Given the description of an element on the screen output the (x, y) to click on. 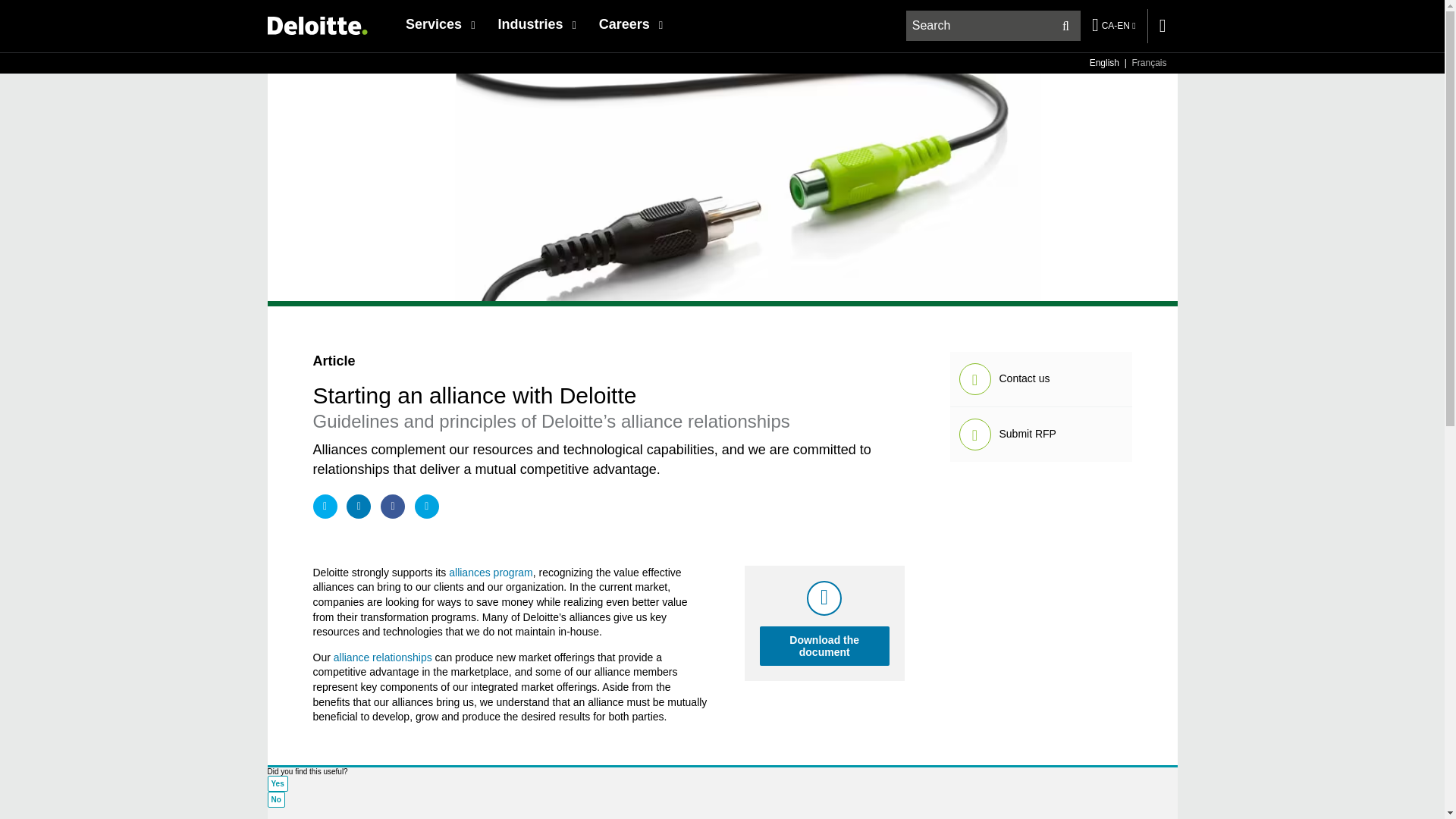
Search (1065, 25)
Share via LinkedIn (358, 506)
Share via Facebook (392, 506)
Share via Twitter (324, 506)
Deloitte Canada (316, 25)
Share via Email (426, 506)
Services (440, 24)
search (994, 25)
